Given the description of an element on the screen output the (x, y) to click on. 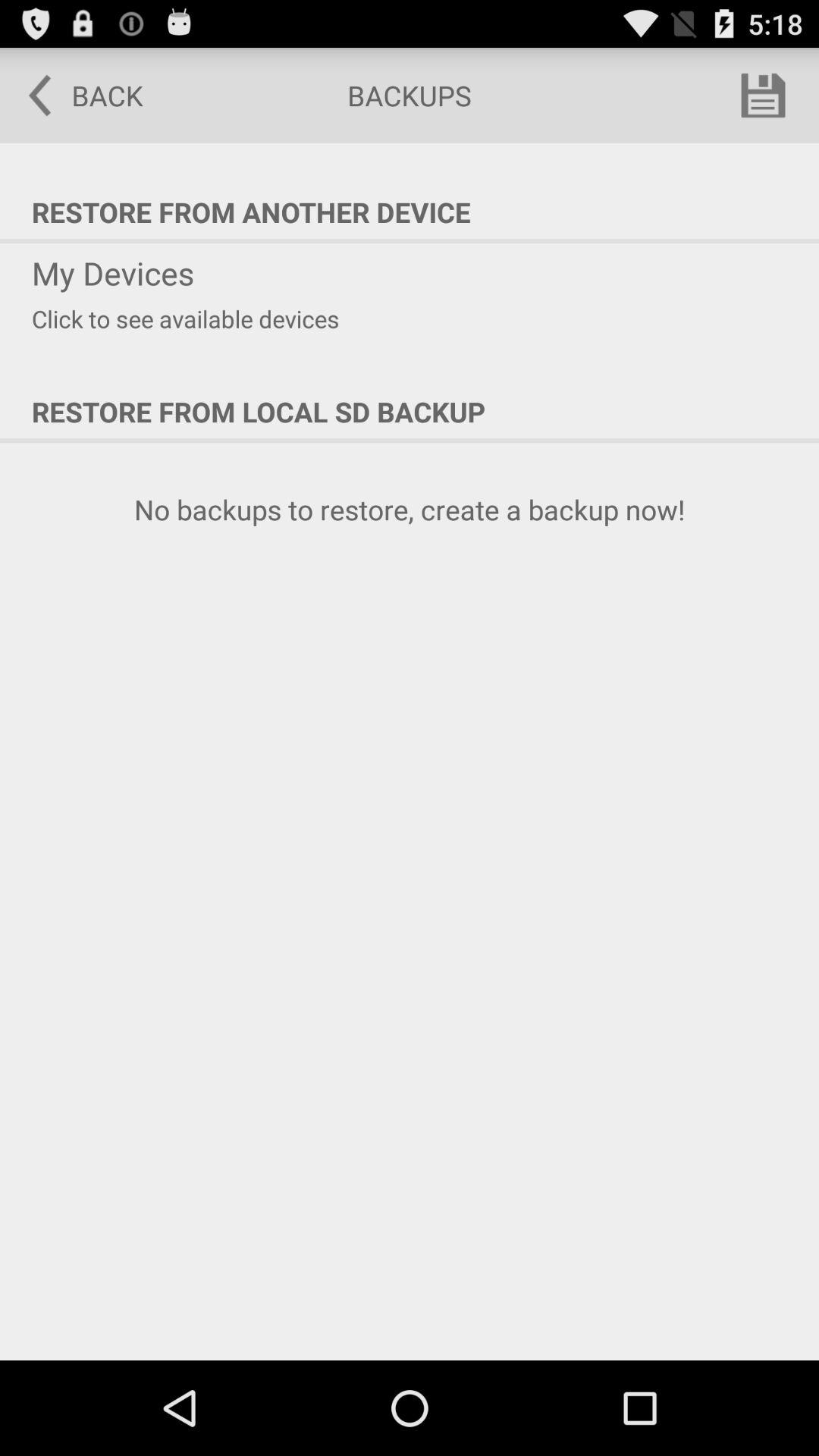
tap icon at the top right corner (763, 95)
